Given the description of an element on the screen output the (x, y) to click on. 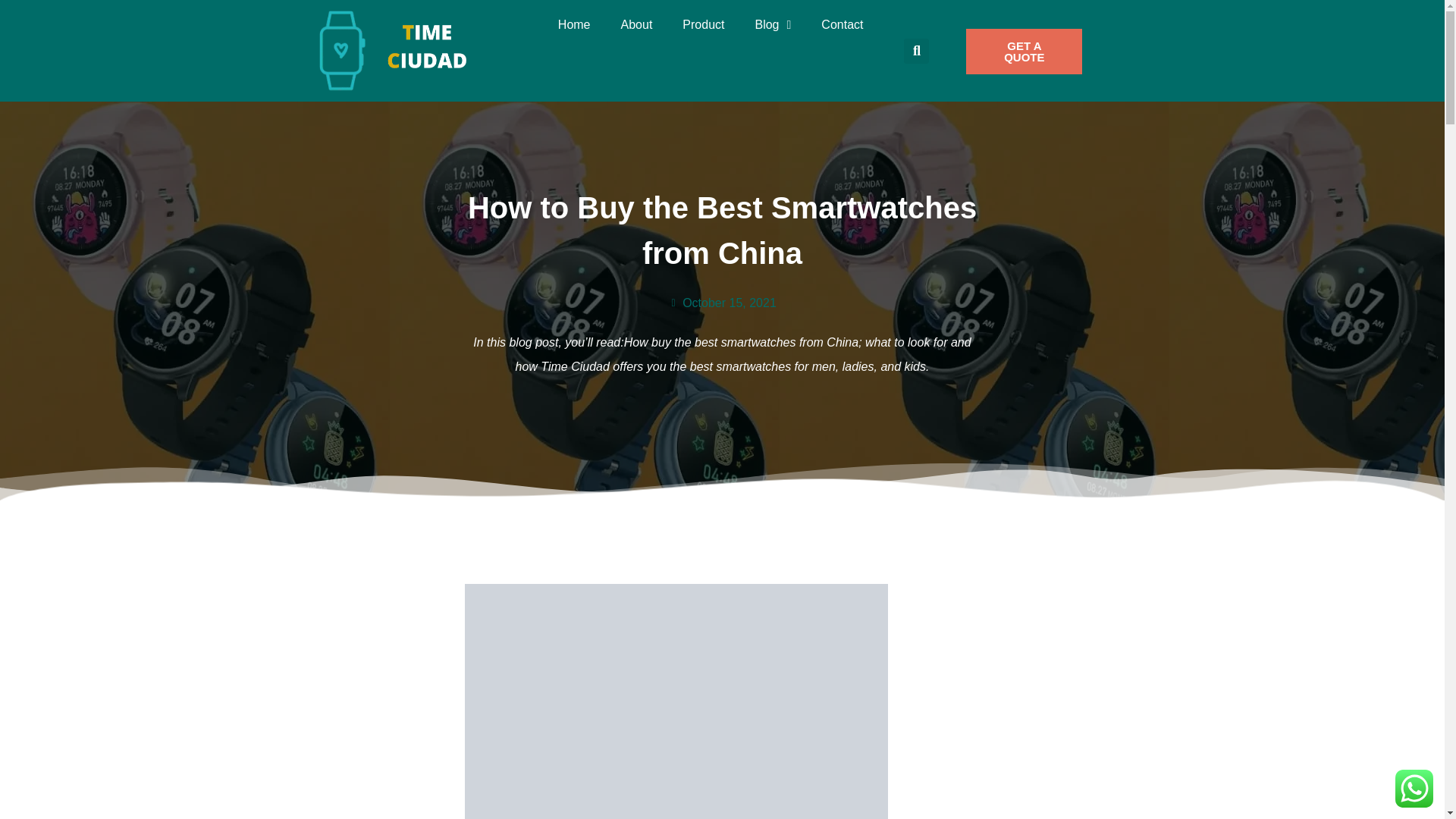
October 15, 2021 (722, 303)
GET A QUOTE (1023, 51)
Product (702, 24)
About (636, 24)
Blog (772, 24)
Home (574, 24)
Contact (841, 24)
